Given the description of an element on the screen output the (x, y) to click on. 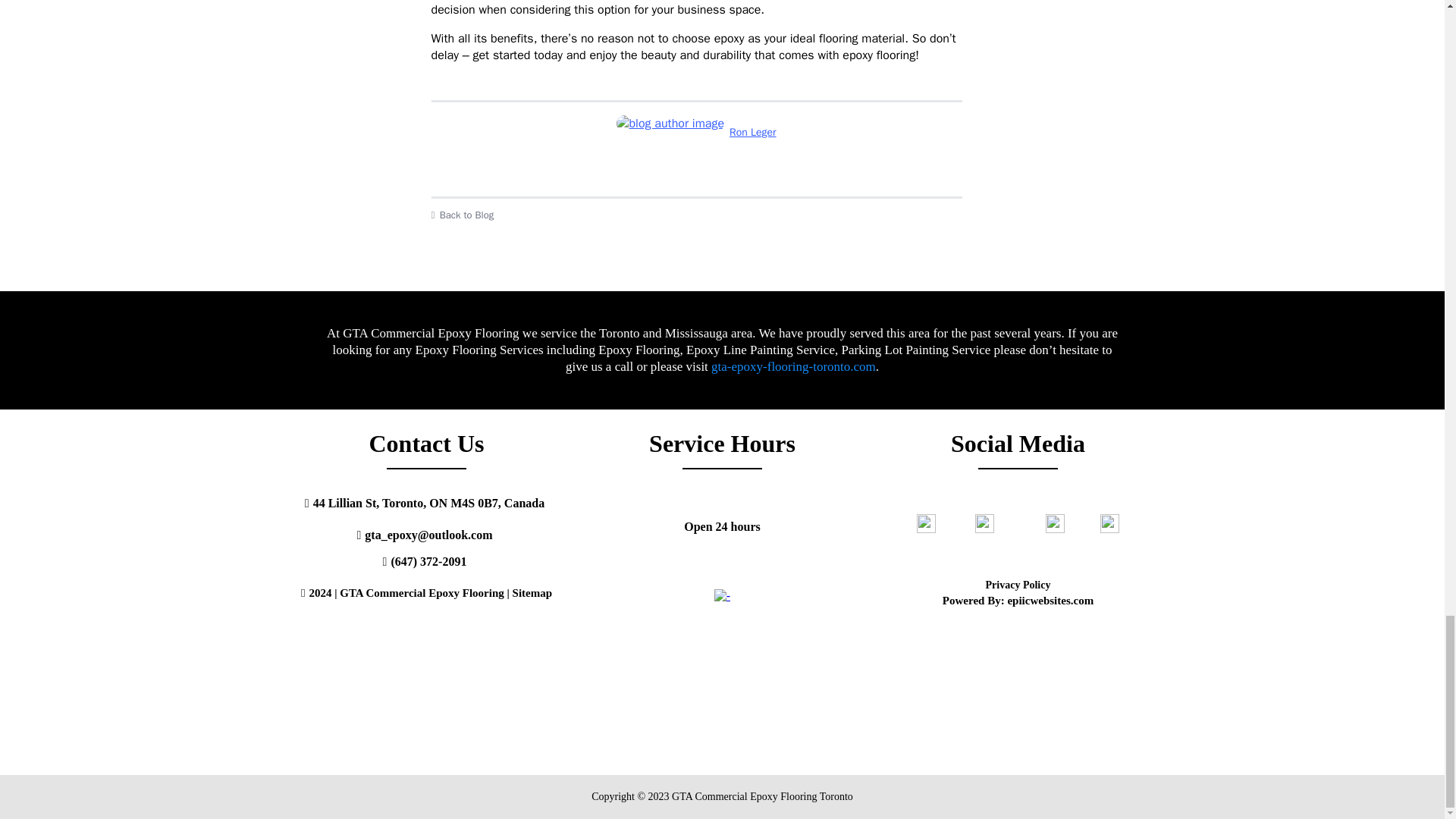
Ron Leger (695, 132)
Back to Blog (695, 214)
gta-epoxy-flooring-toronto.com (793, 366)
